Given the description of an element on the screen output the (x, y) to click on. 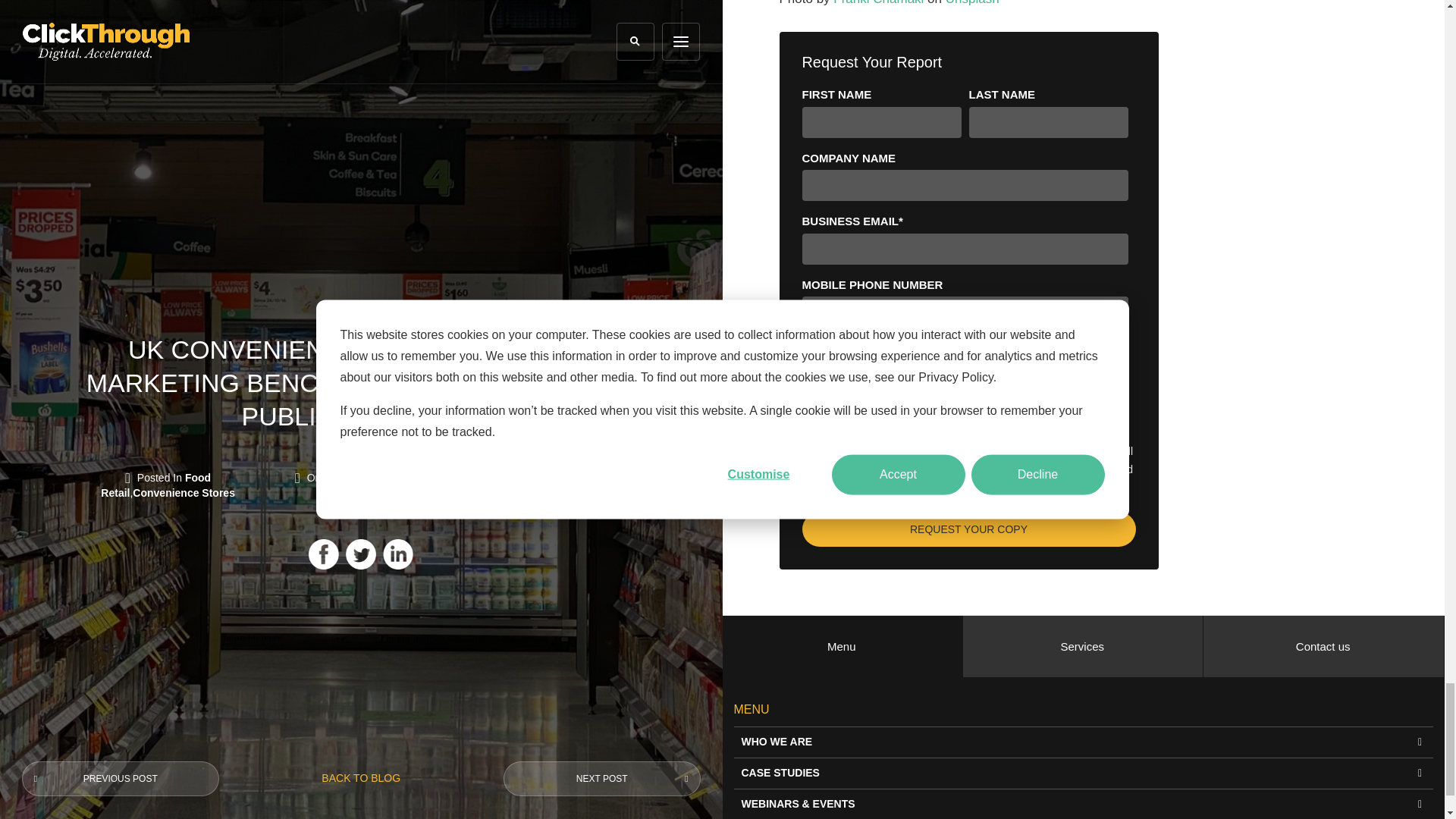
Food Delivery (810, 420)
Covnenience Stores (810, 401)
Unsplash (971, 2)
Franki Chamaki (877, 2)
privacy policy (895, 487)
REQUEST YOUR COPY (968, 529)
Supermarkets (810, 383)
